Given the description of an element on the screen output the (x, y) to click on. 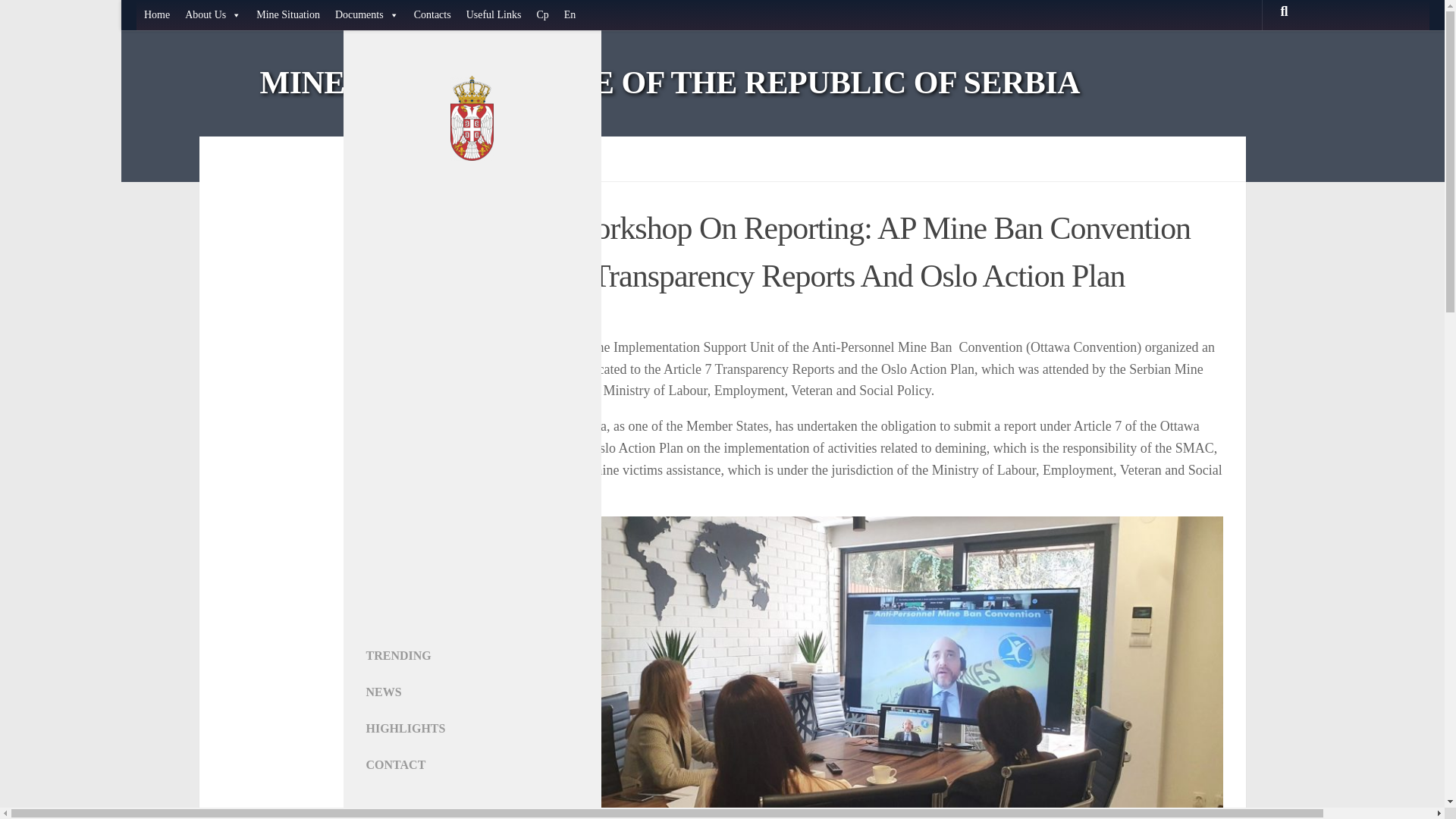
About Us (212, 15)
NEWS (425, 692)
En (569, 15)
Home (156, 15)
Contacts (432, 15)
MINE ACTION CENTRE OF THE REPUBLIC OF SERBIA (668, 83)
Skip to content (59, 20)
Mine Situation (287, 15)
Documents (366, 15)
Useful Links (493, 15)
